Given the description of an element on the screen output the (x, y) to click on. 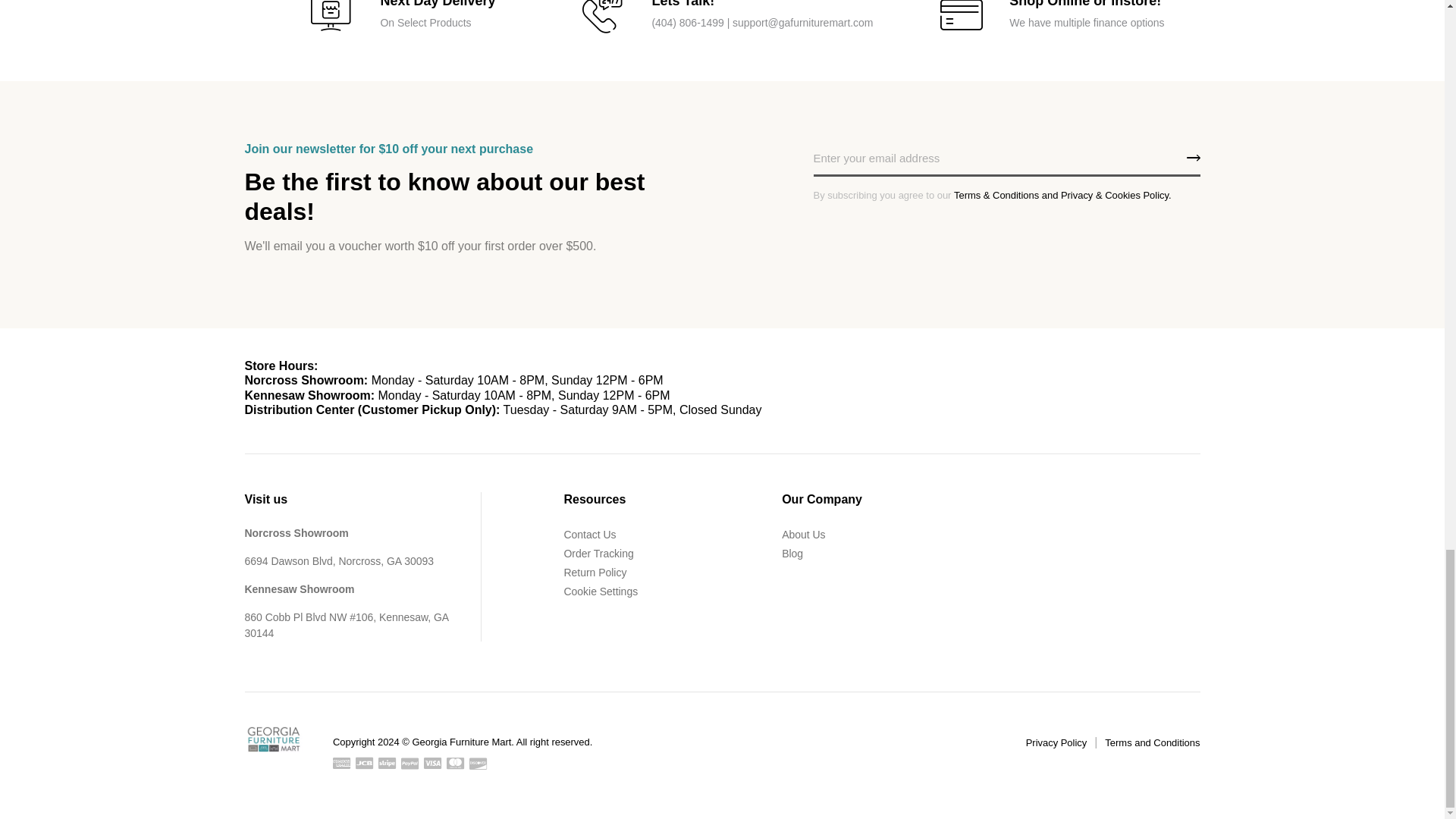
Georgia Furniture Mart (273, 738)
